Given the description of an element on the screen output the (x, y) to click on. 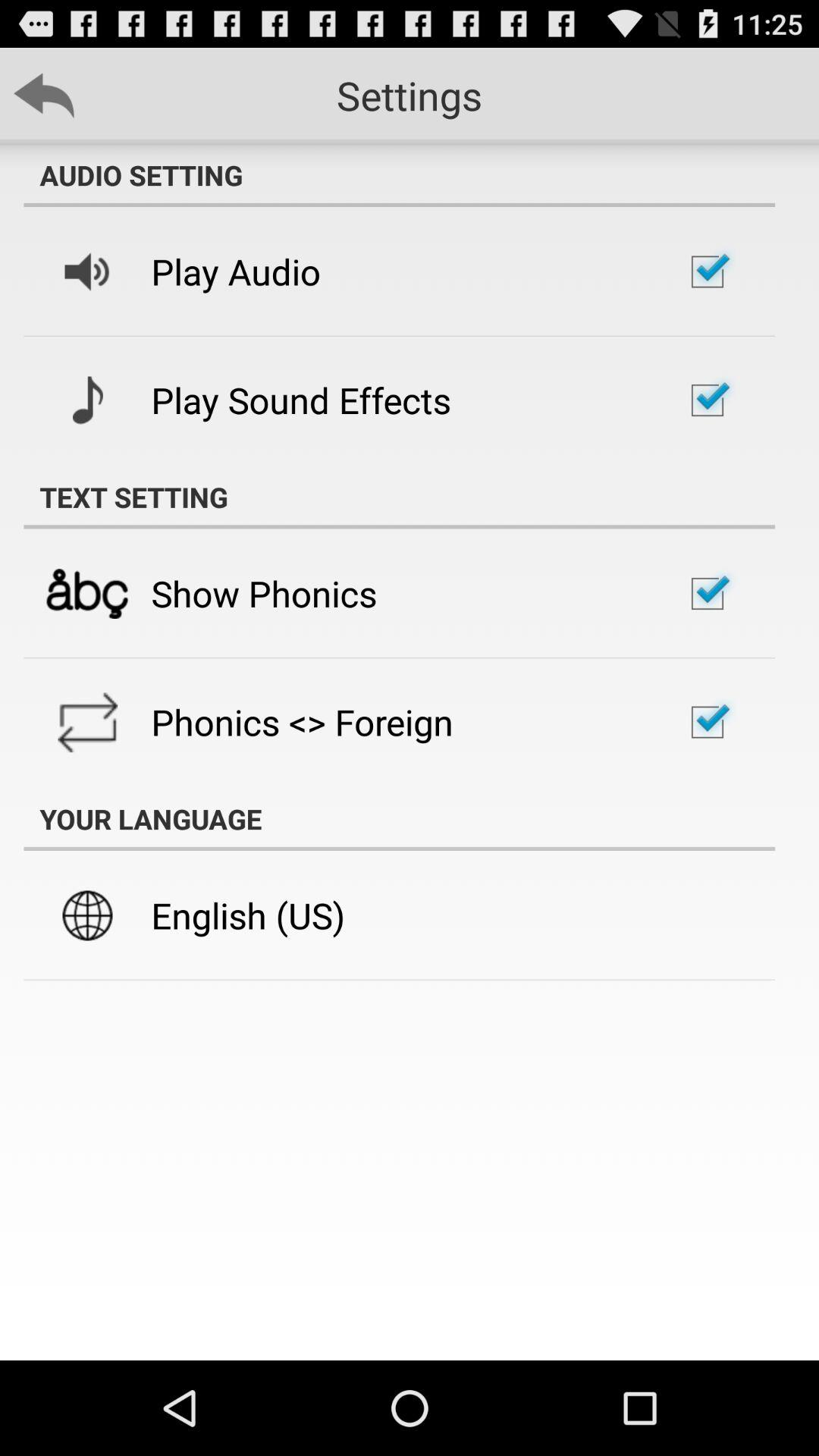
press the audio setting (399, 175)
